Given the description of an element on the screen output the (x, y) to click on. 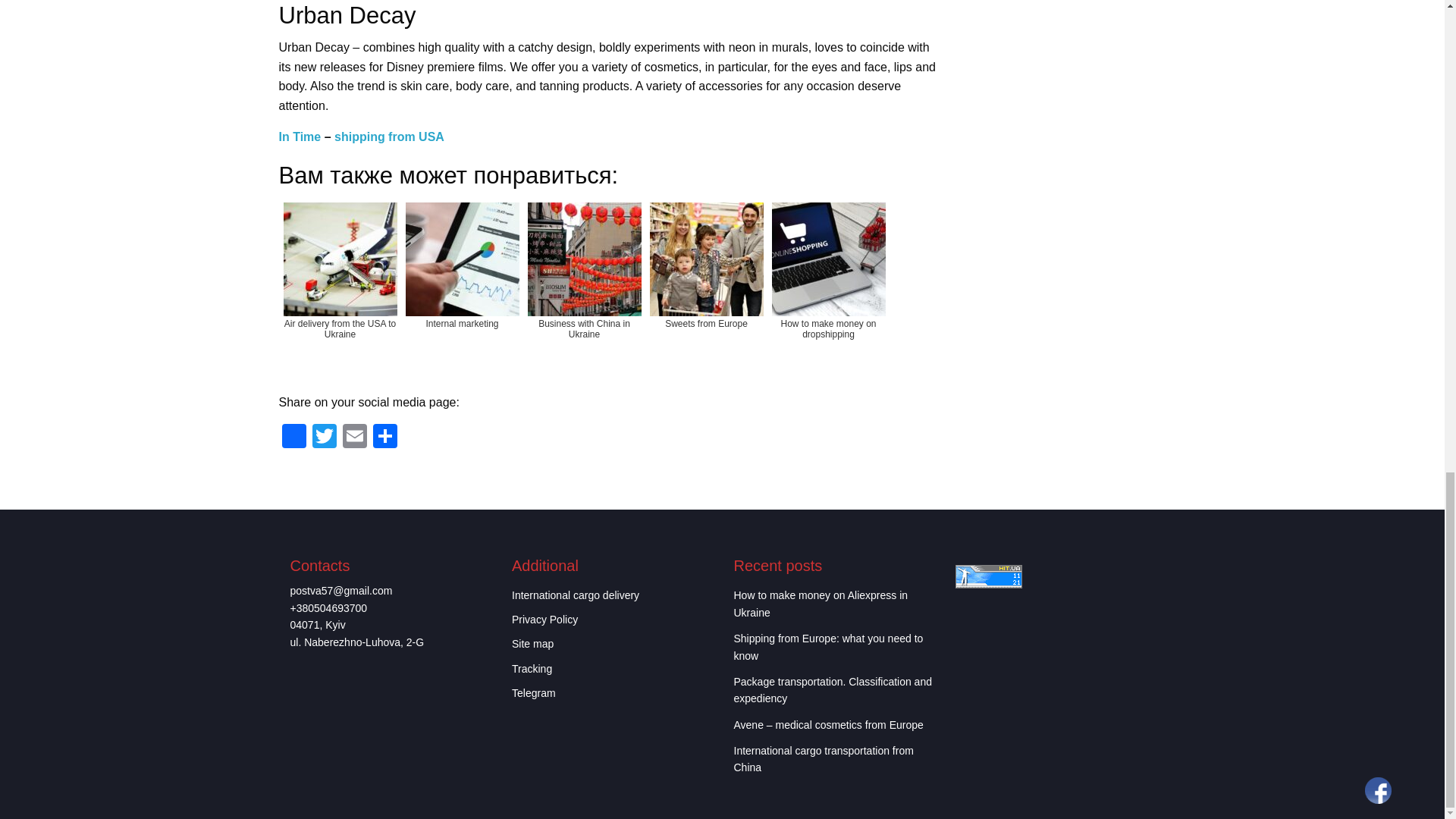
Twitter (323, 438)
Email (354, 438)
Facebook (293, 438)
